Given the description of an element on the screen output the (x, y) to click on. 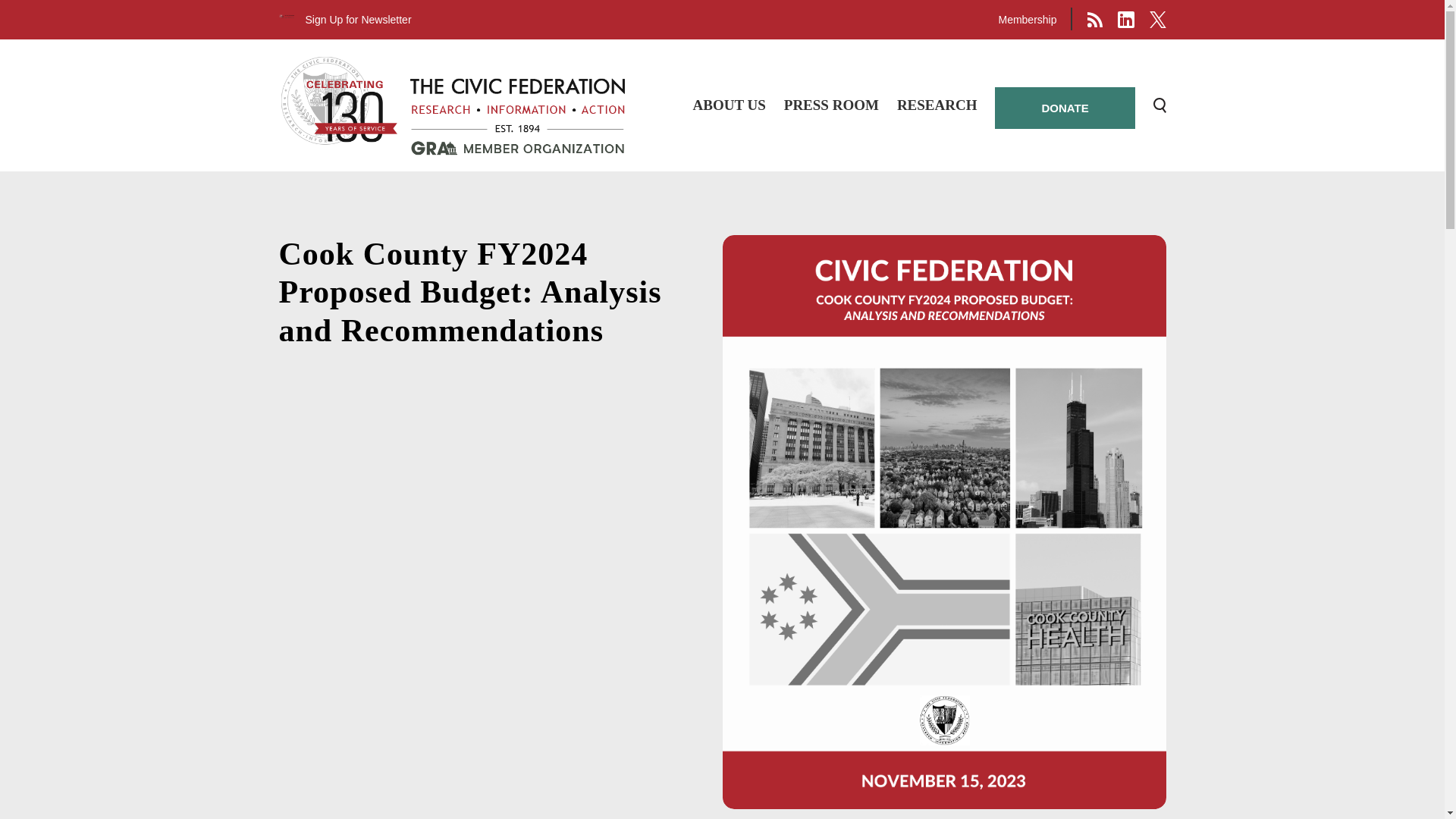
Sign Up for Newsletter (357, 19)
Membership (1027, 19)
DONATE (1064, 107)
